Given the description of an element on the screen output the (x, y) to click on. 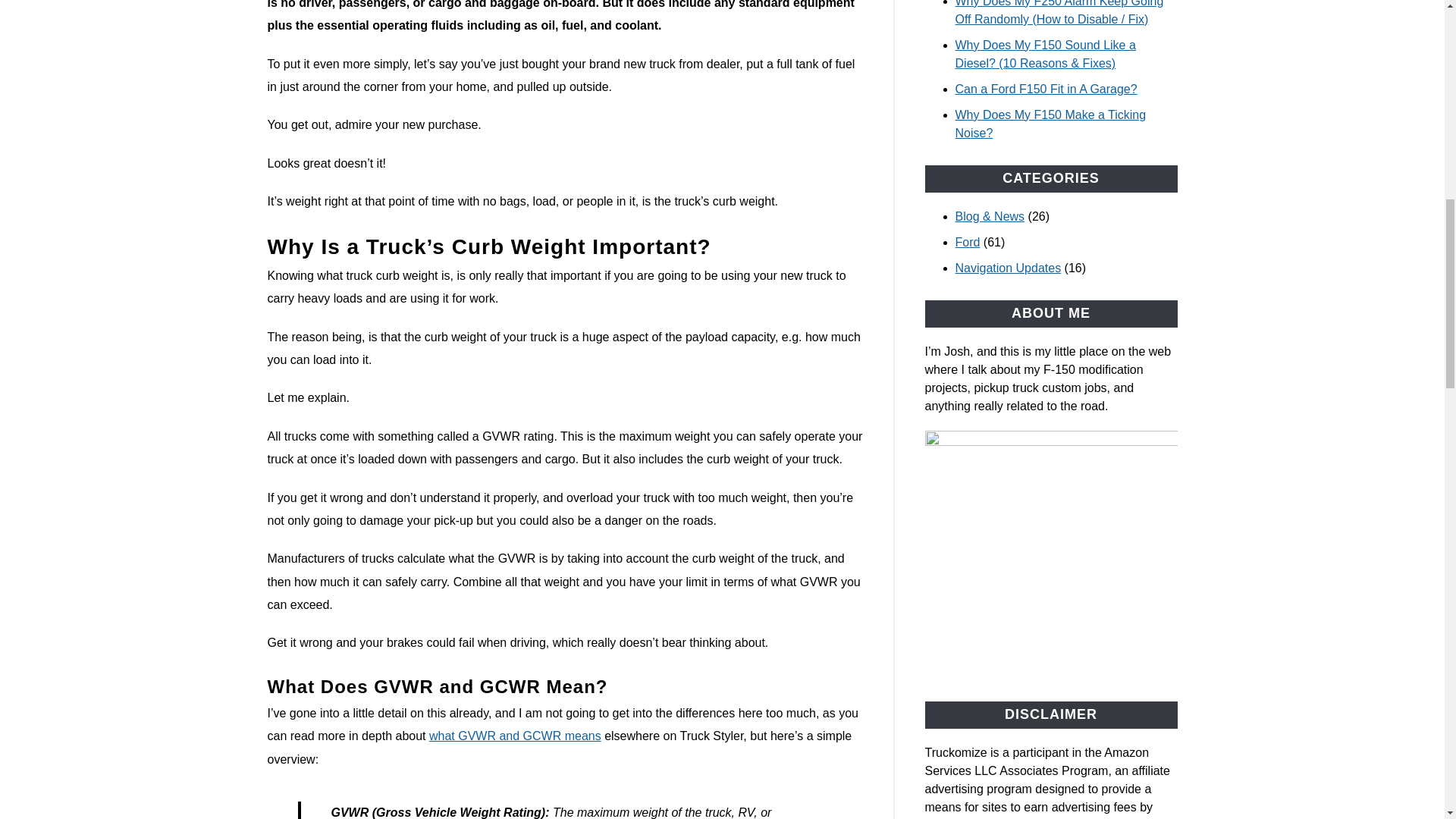
Ford (967, 241)
Navigation Updates (1008, 267)
Why Does My F150 Make a Ticking Noise? (1051, 123)
Can a Ford F150 Fit in A Garage? (1046, 88)
what GVWR and GCWR means (515, 735)
